Given the description of an element on the screen output the (x, y) to click on. 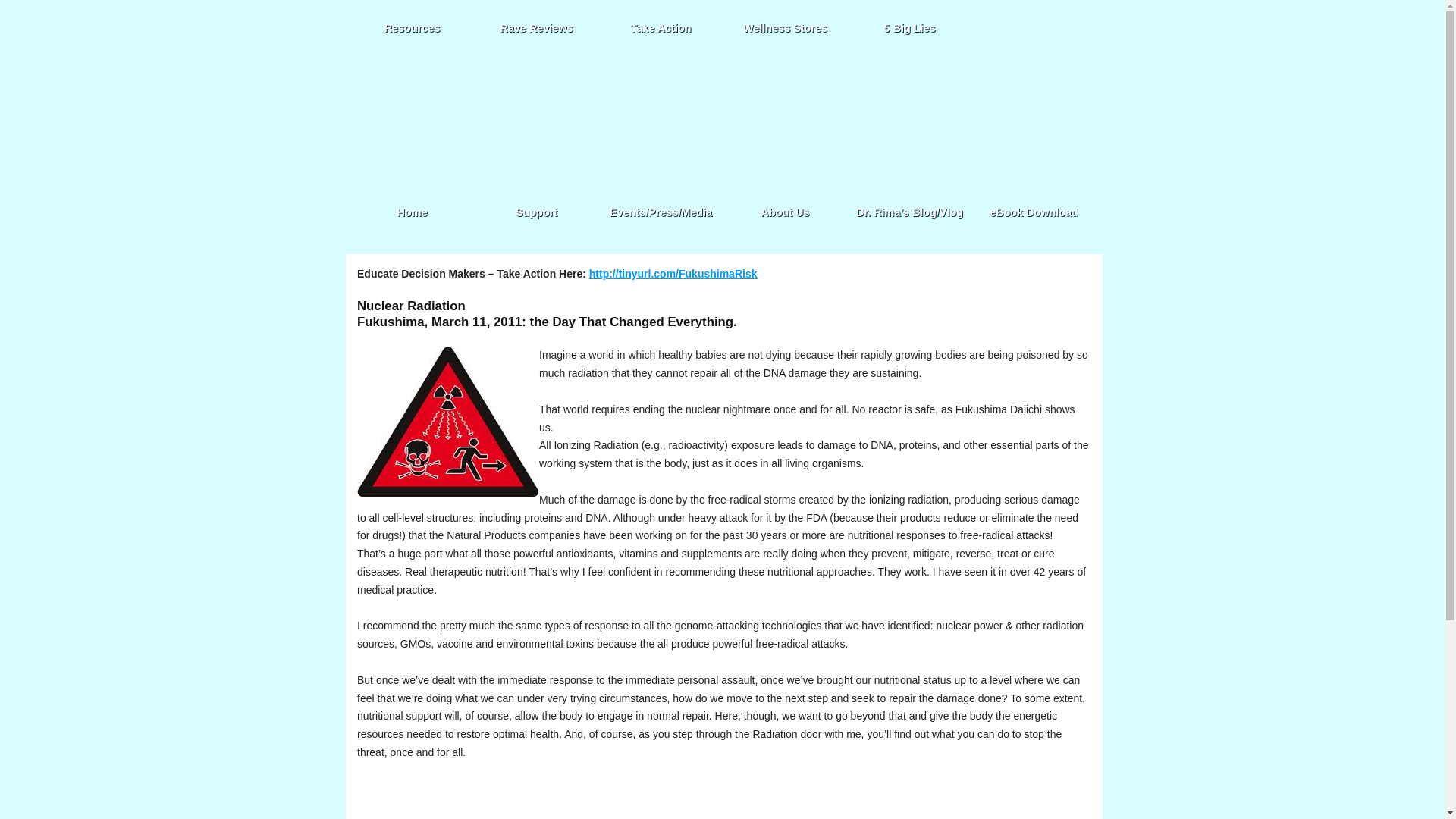
Support (536, 211)
Rave Reviews (536, 27)
Wellness Stores (785, 27)
Resources (411, 27)
Take Action (659, 27)
Home (411, 211)
Radiation dangers (447, 421)
About Us (785, 211)
5 Big Lies (908, 27)
